Given the description of an element on the screen output the (x, y) to click on. 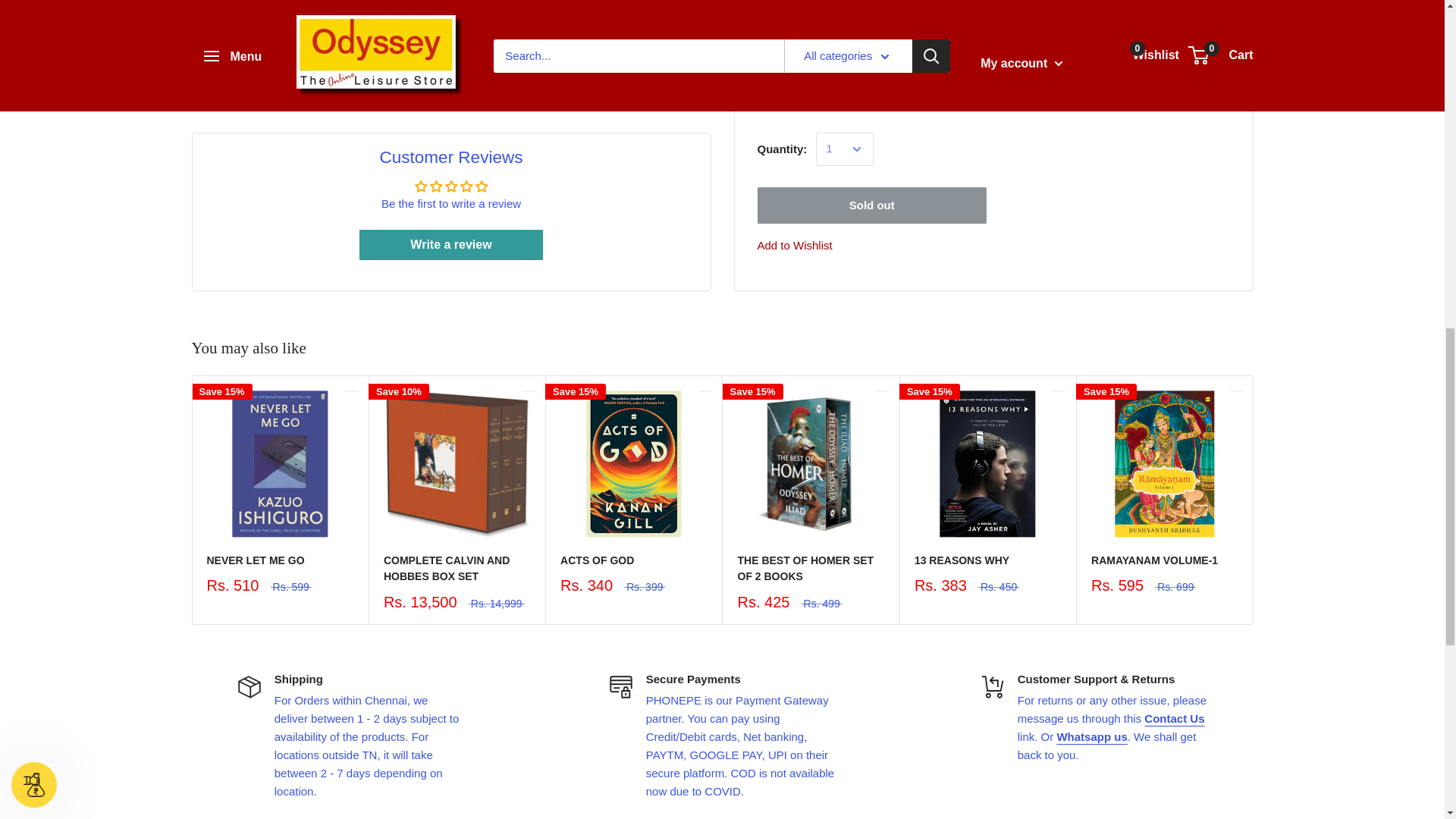
CONTACT US (1174, 717)
